Given the description of an element on the screen output the (x, y) to click on. 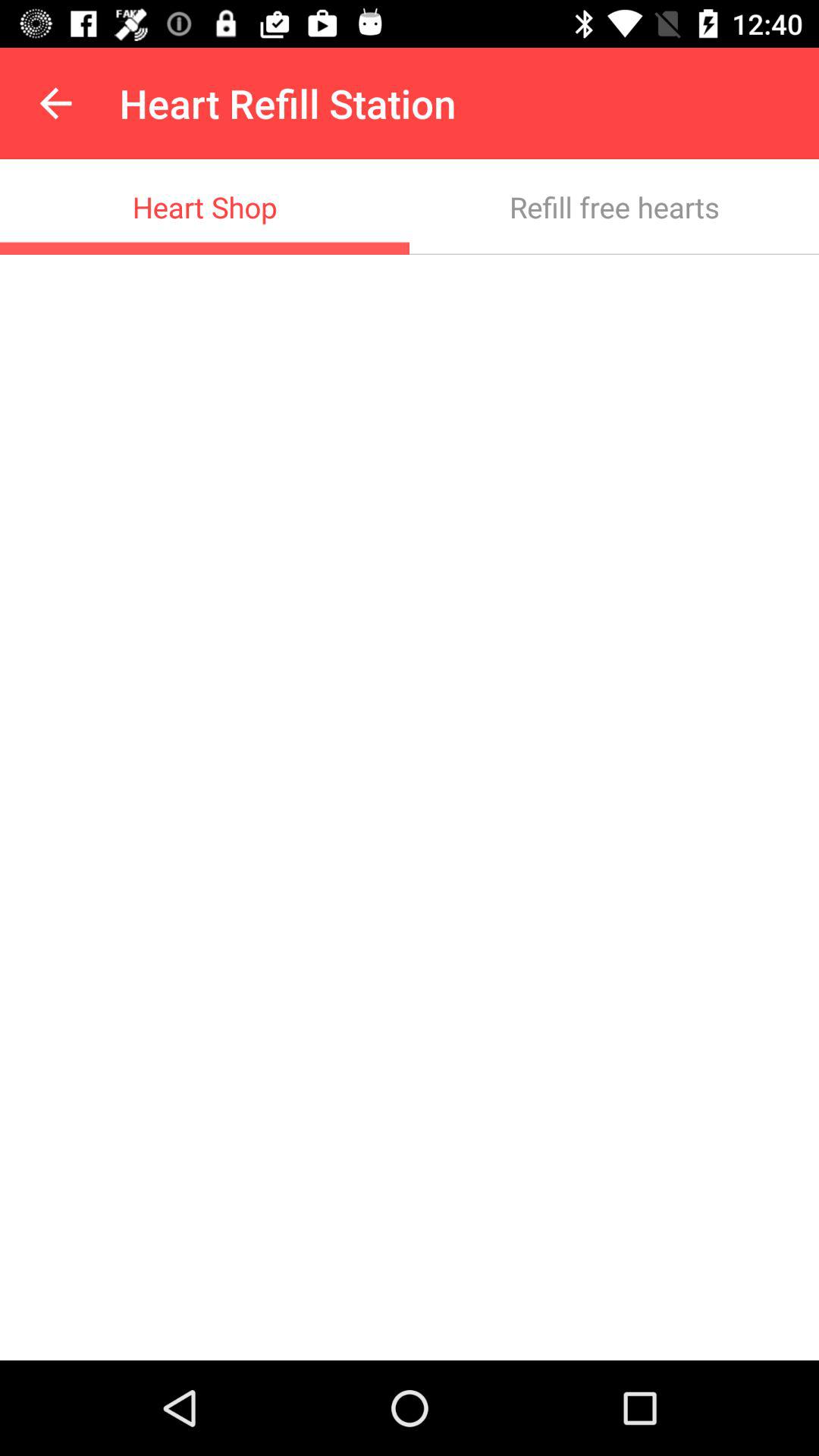
click the refill free hearts item (614, 206)
